Given the description of an element on the screen output the (x, y) to click on. 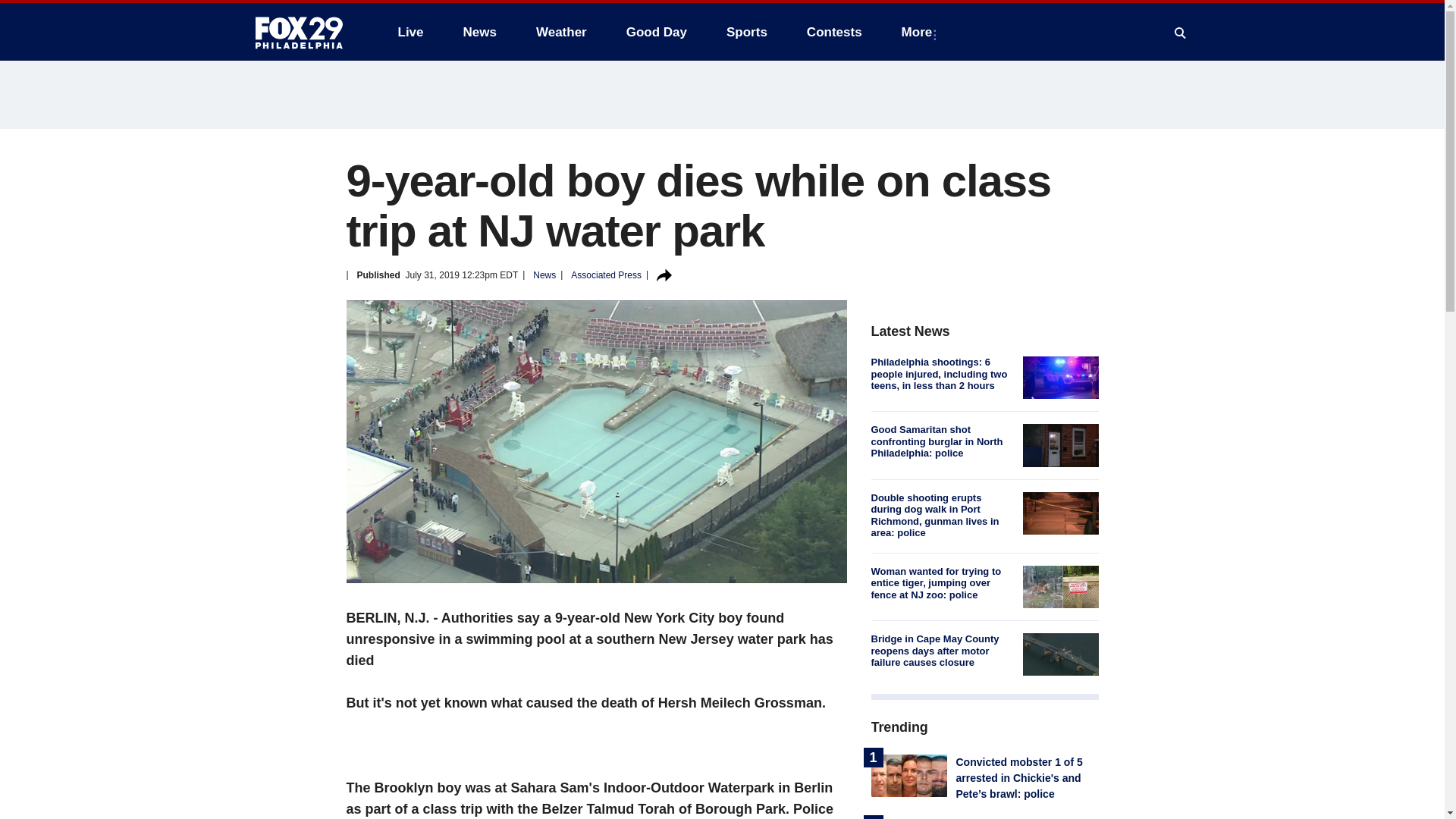
Sports (746, 32)
Contests (834, 32)
More (919, 32)
Good Day (656, 32)
News (479, 32)
Live (410, 32)
Weather (561, 32)
